Given the description of an element on the screen output the (x, y) to click on. 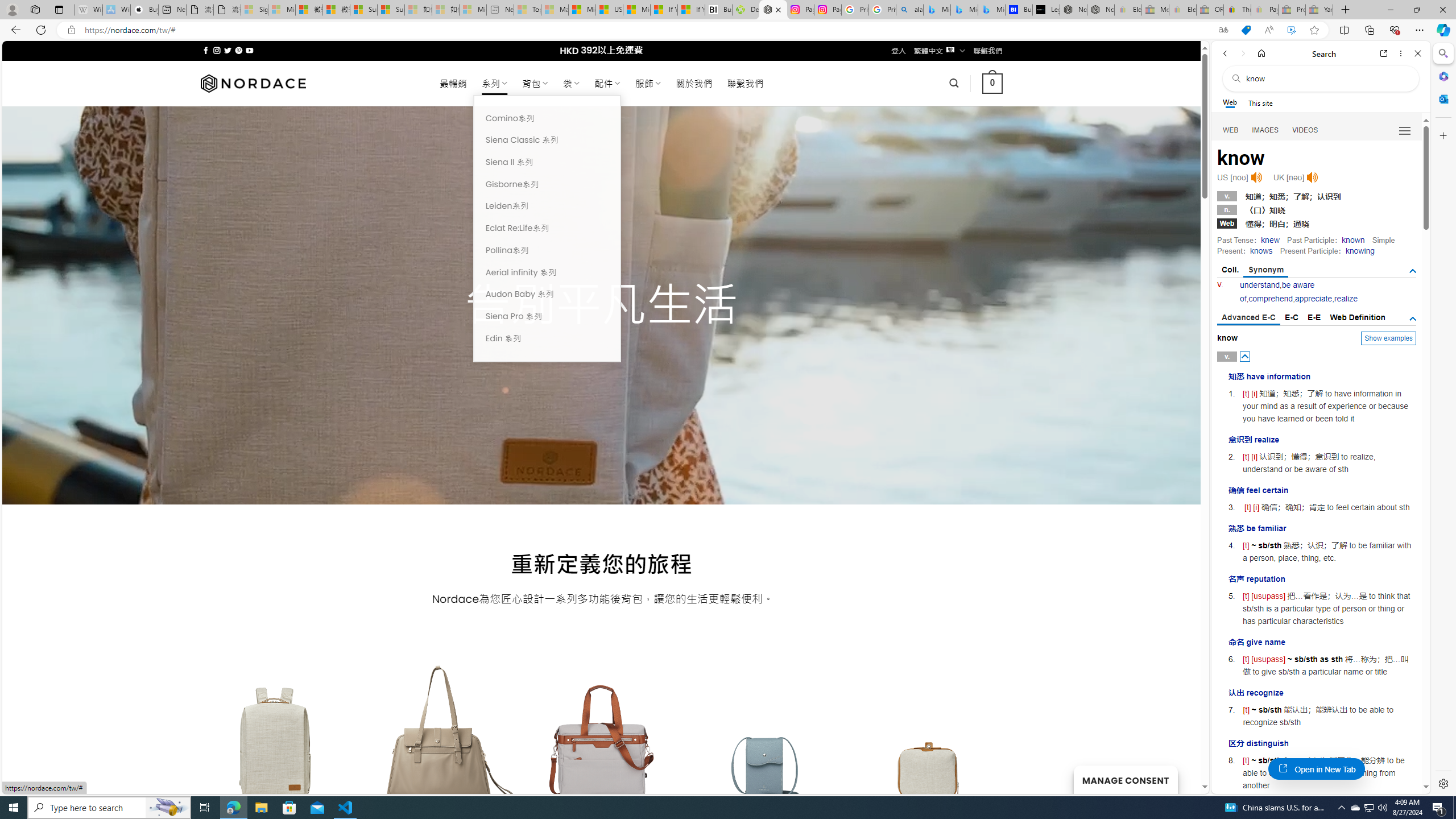
comprehend (1269, 298)
Sign in to your Microsoft account - Sleeping (254, 9)
